Given the description of an element on the screen output the (x, y) to click on. 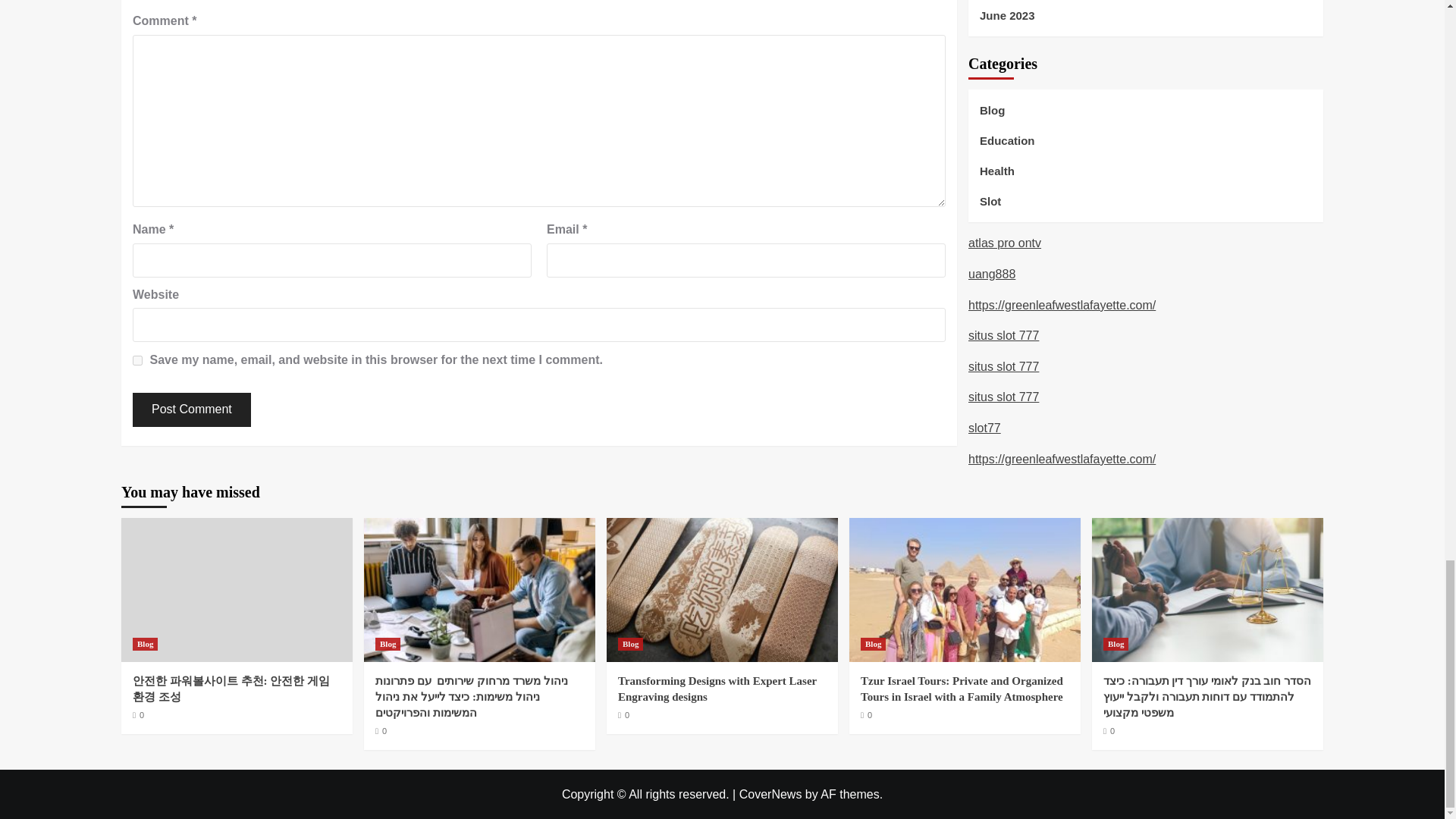
yes (137, 360)
Post Comment (191, 409)
Post Comment (191, 409)
